Given the description of an element on the screen output the (x, y) to click on. 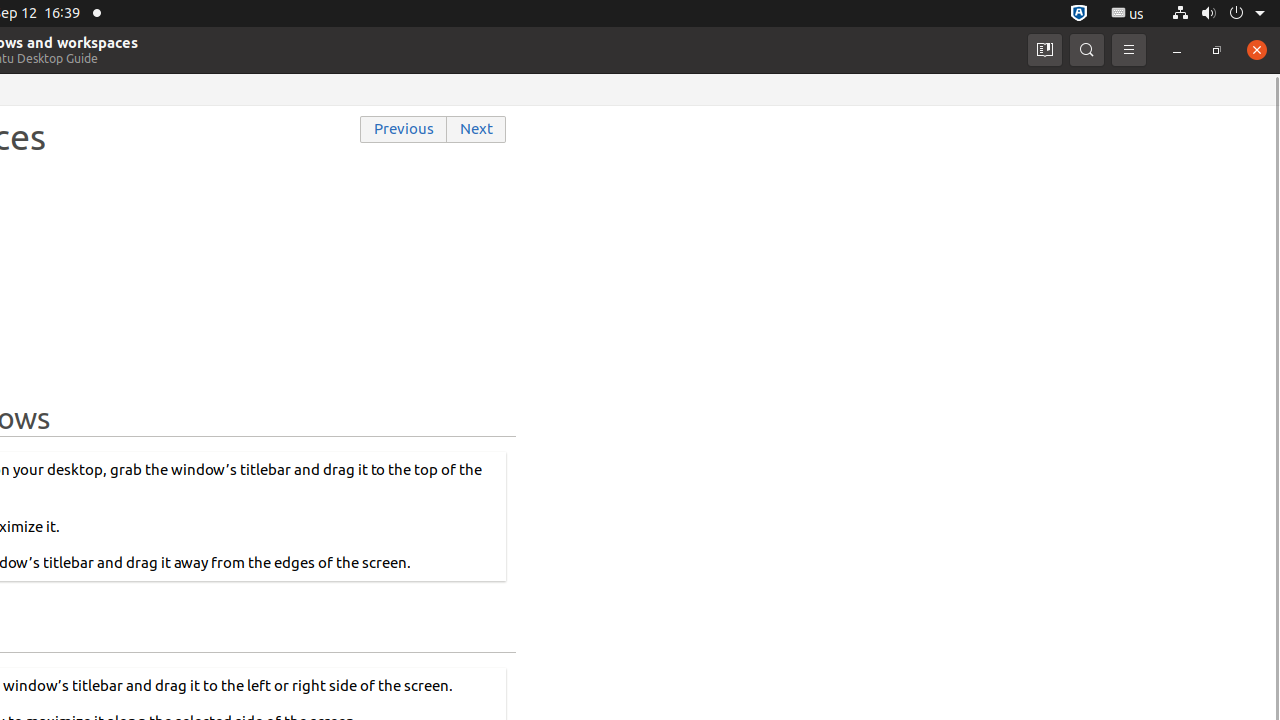
Next Element type: link (477, 129)
Restore Element type: push-button (1217, 50)
Previous Element type: link (404, 129)
Minimize Element type: push-button (1177, 50)
